Given the description of an element on the screen output the (x, y) to click on. 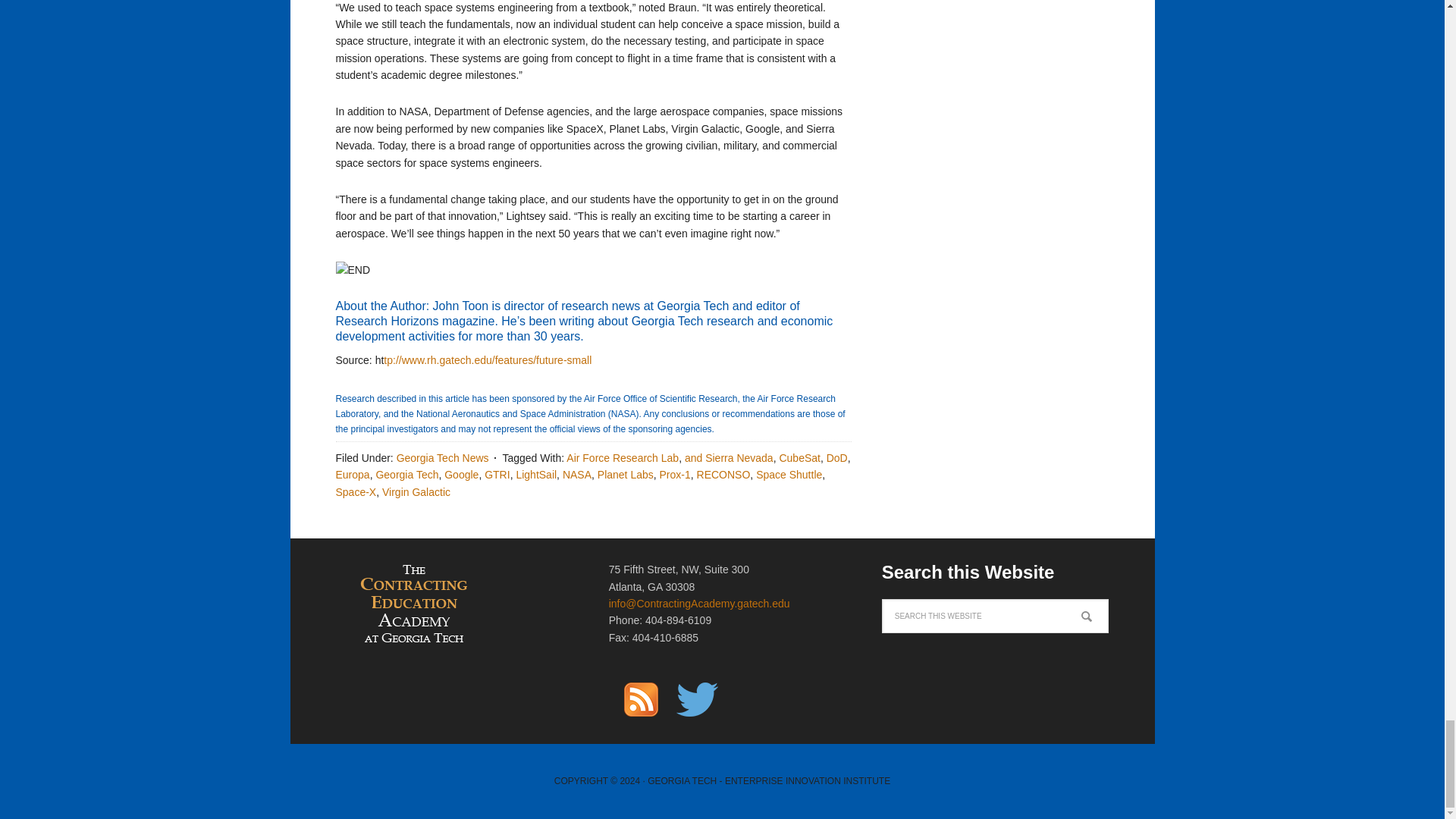
NASA (576, 474)
Prox-1 (674, 474)
Space Shuttle (788, 474)
Georgia Tech News (442, 458)
Georgia Tech (406, 474)
Planet Labs (624, 474)
and Sierra Nevada (728, 458)
Europa (351, 474)
Google (461, 474)
Virgin Galactic (415, 491)
Air Force Research Lab (622, 458)
GTRI (496, 474)
CubeSat (798, 458)
